Given the description of an element on the screen output the (x, y) to click on. 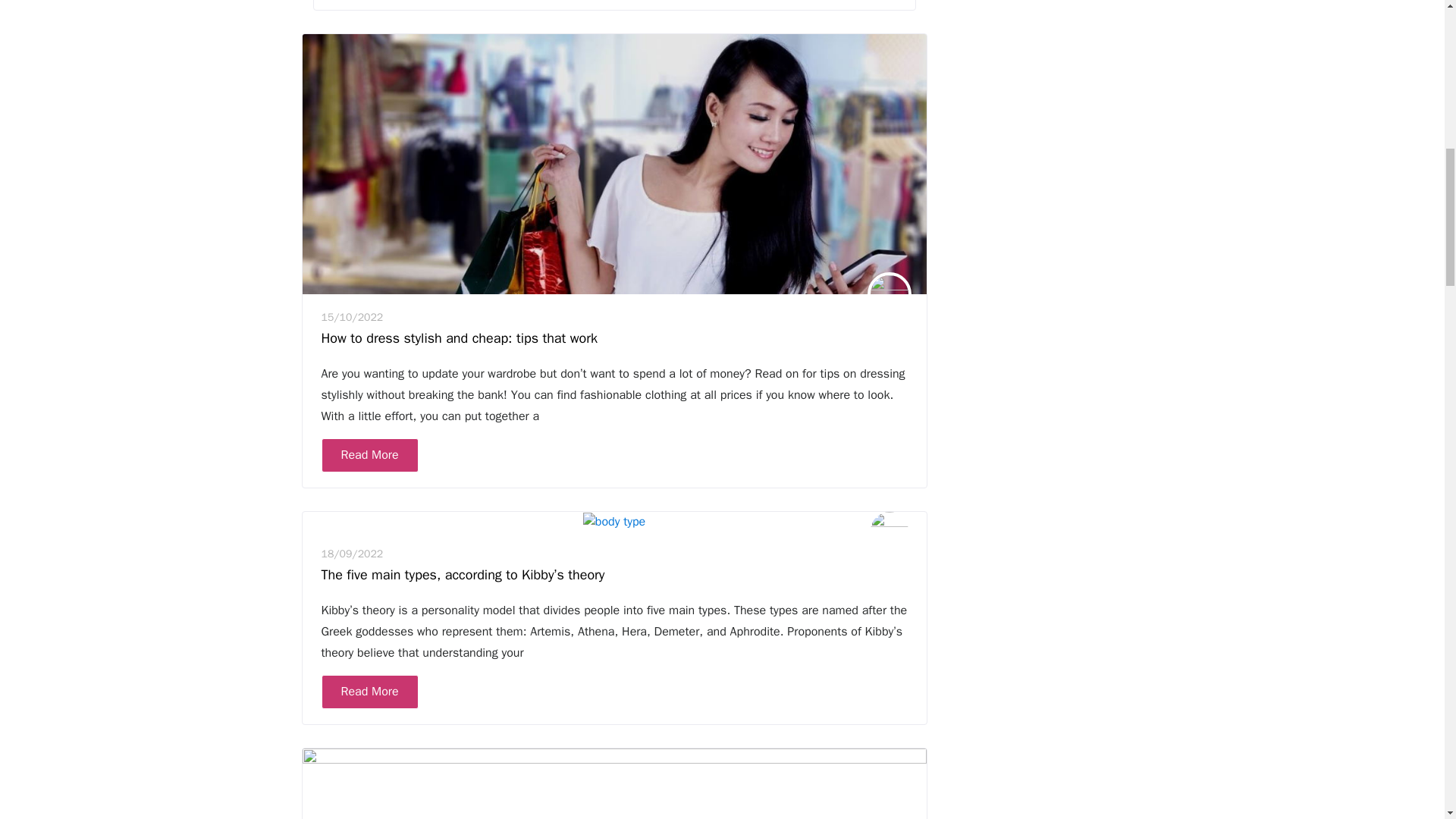
Read More (370, 691)
Read More (370, 455)
How to dress stylish and cheap: tips that work (459, 338)
